Given the description of an element on the screen output the (x, y) to click on. 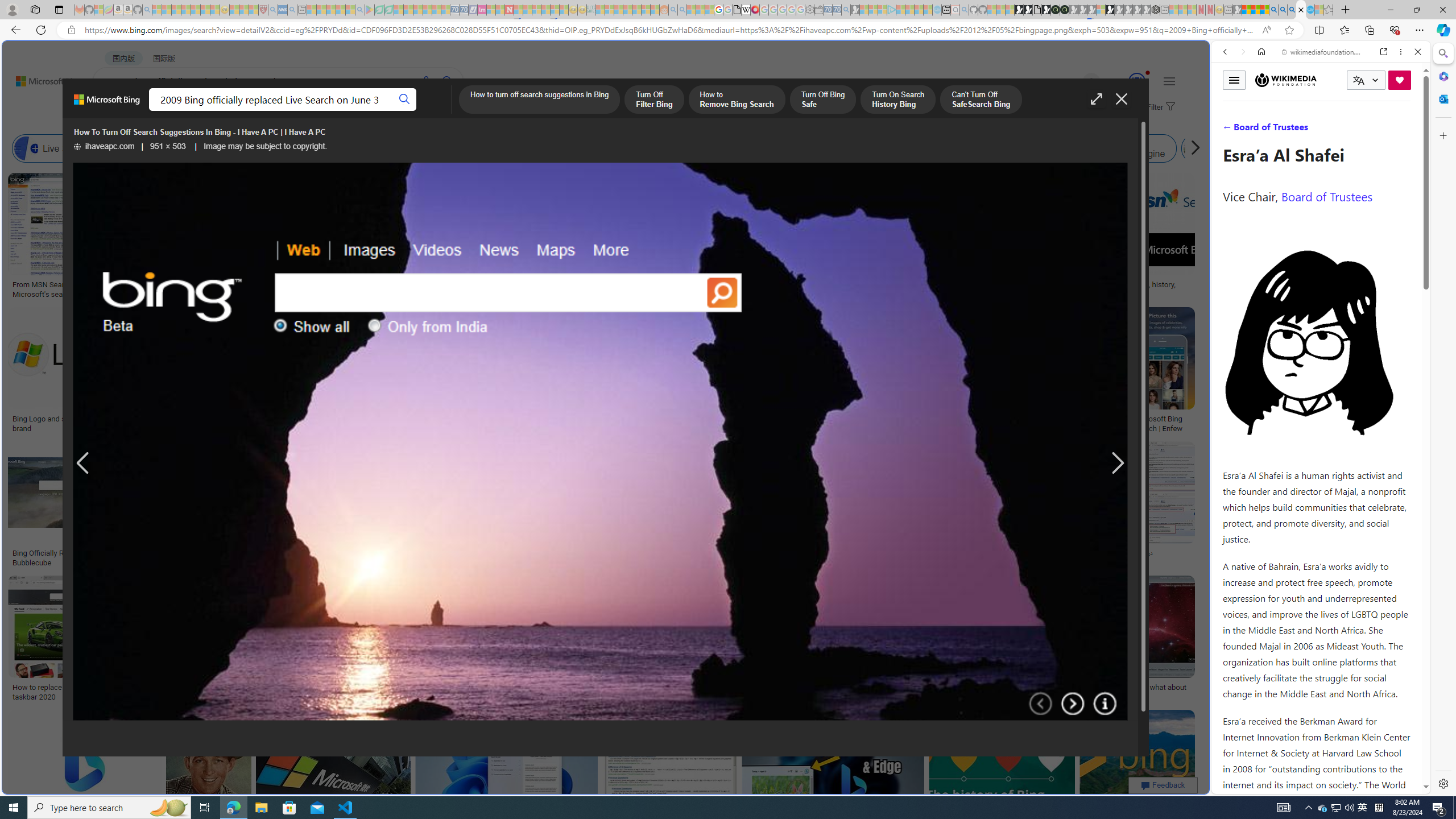
How to Remove Bing Search (736, 100)
DICT (407, 111)
Https Bing Search Q MSN (1234, 148)
Bing (2009) (RARE/FAKE) - YouTubeSave (944, 505)
Bing Image Search Similar Images (964, 148)
